Given the description of an element on the screen output the (x, y) to click on. 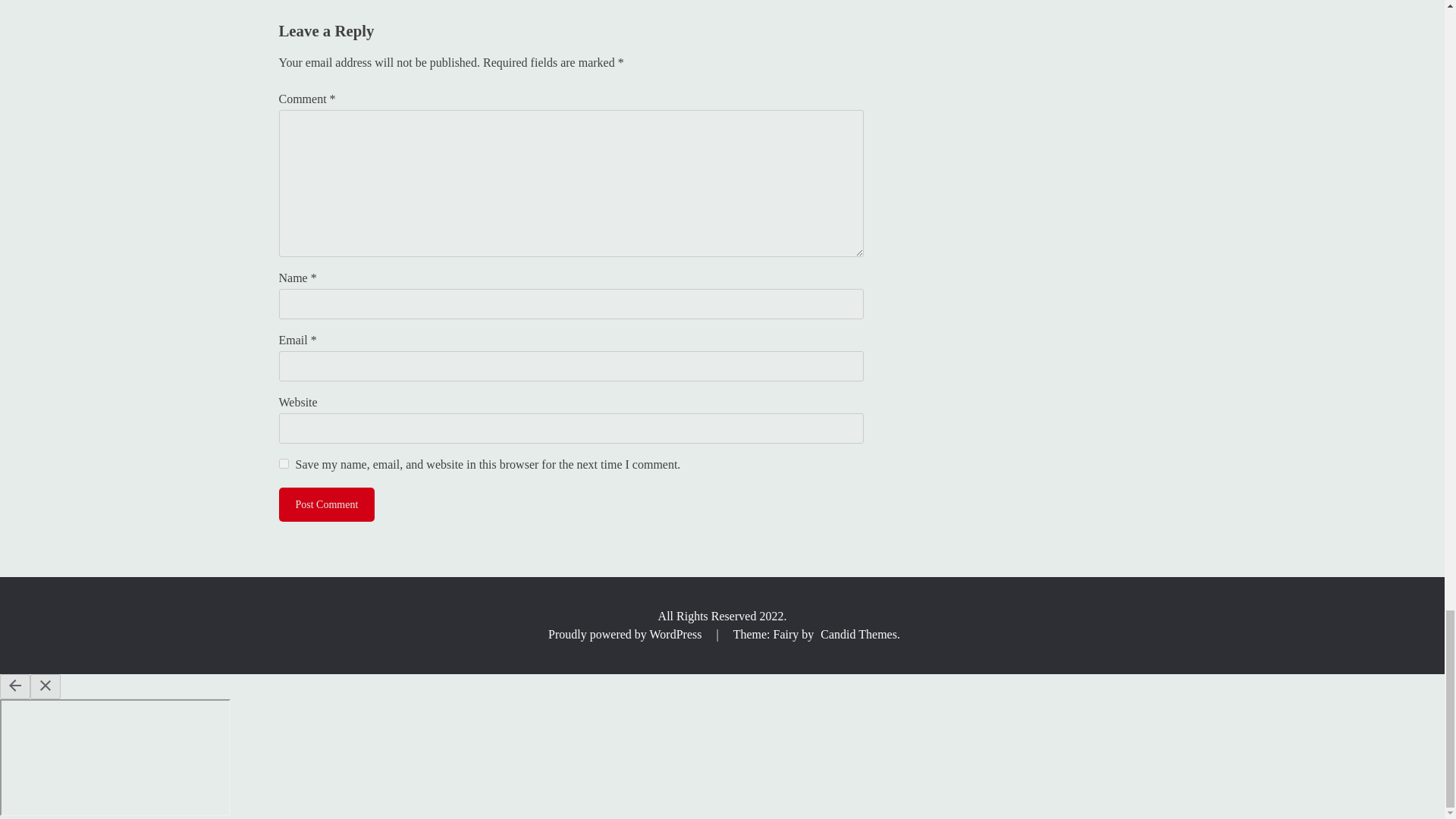
yes (283, 463)
Post Comment (327, 504)
Post Comment (327, 504)
